Given the description of an element on the screen output the (x, y) to click on. 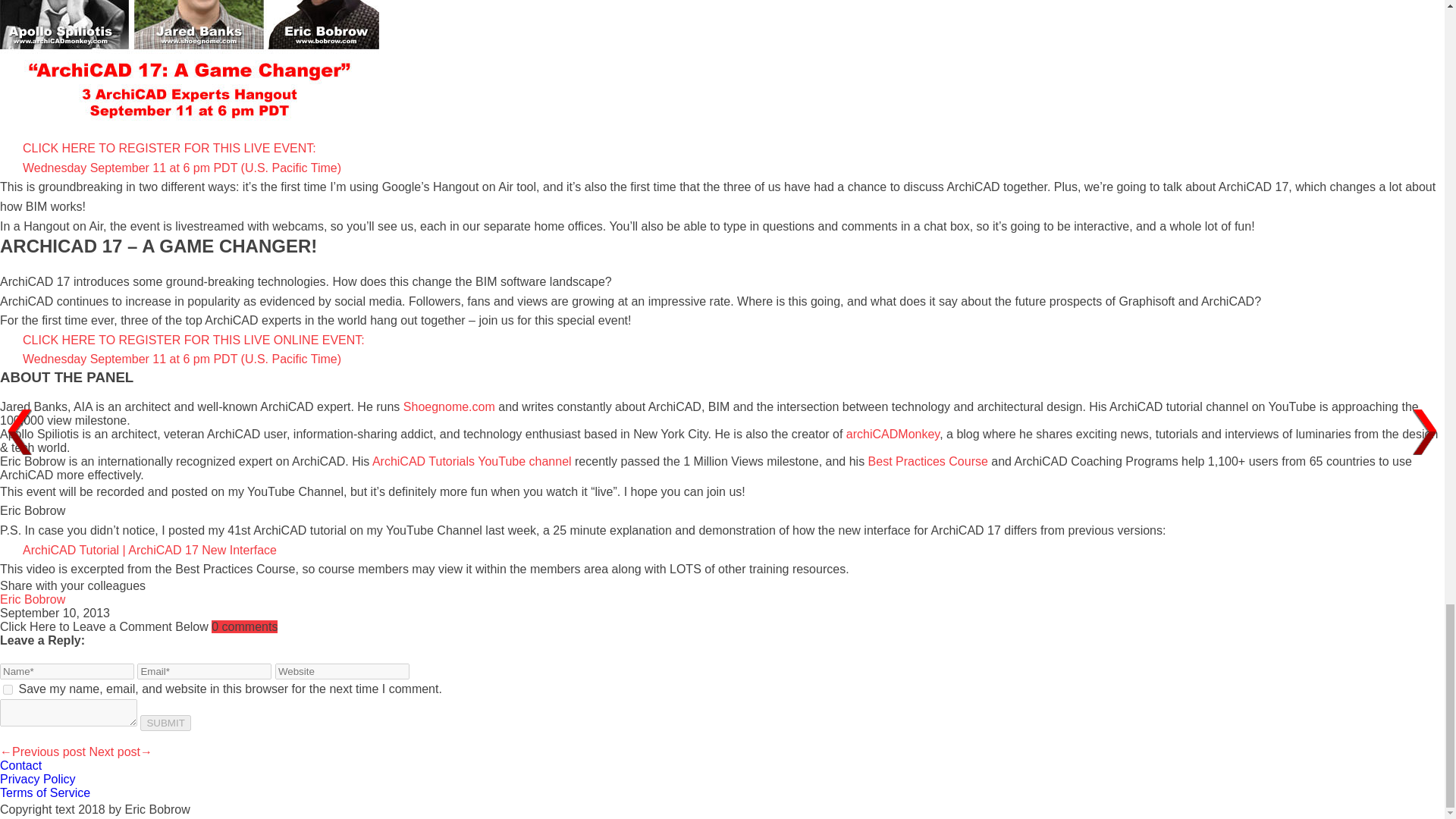
yes (7, 689)
SUBMIT (164, 722)
